Given the description of an element on the screen output the (x, y) to click on. 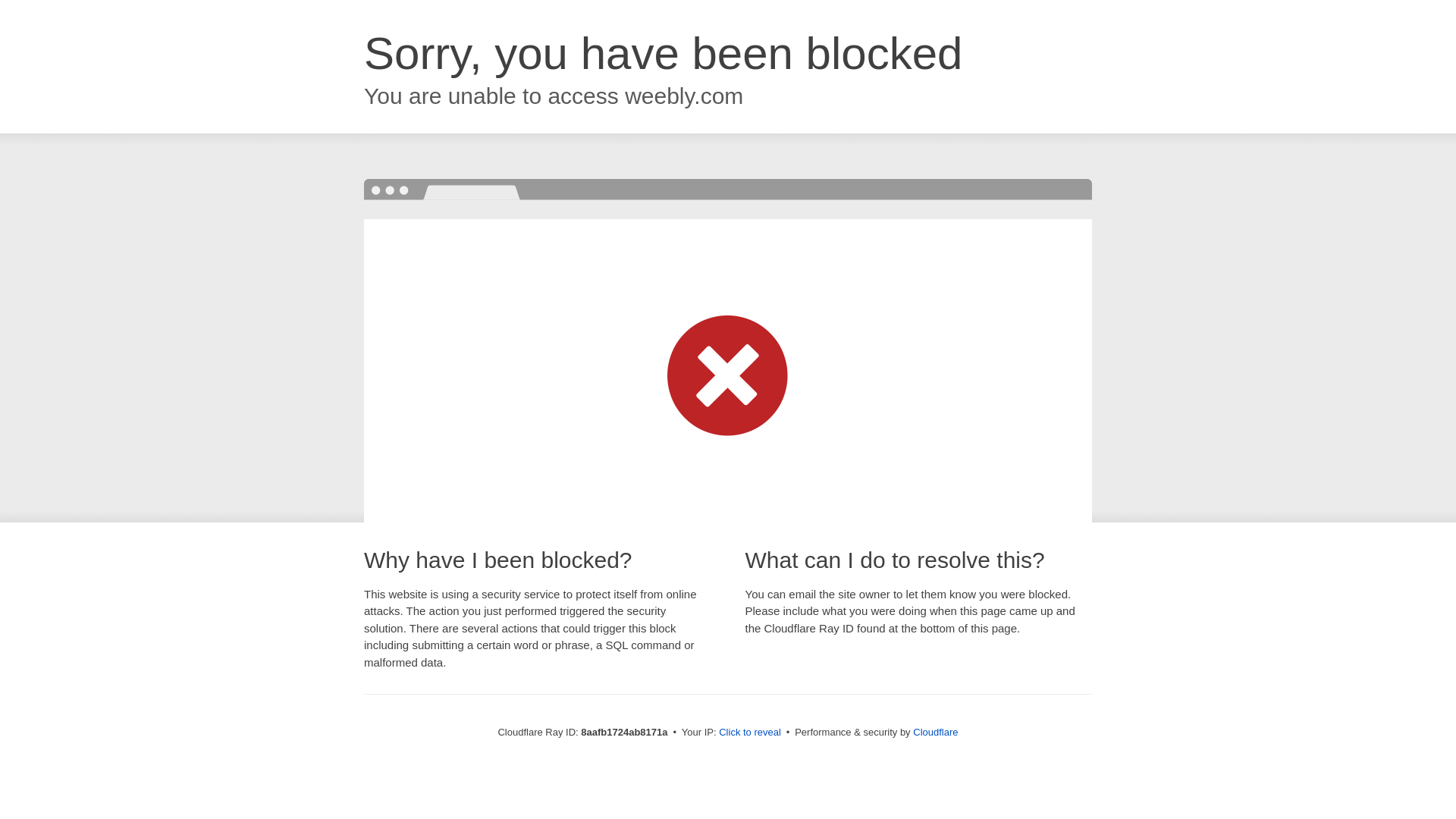
Cloudflare (935, 731)
Click to reveal (749, 732)
